Given the description of an element on the screen output the (x, y) to click on. 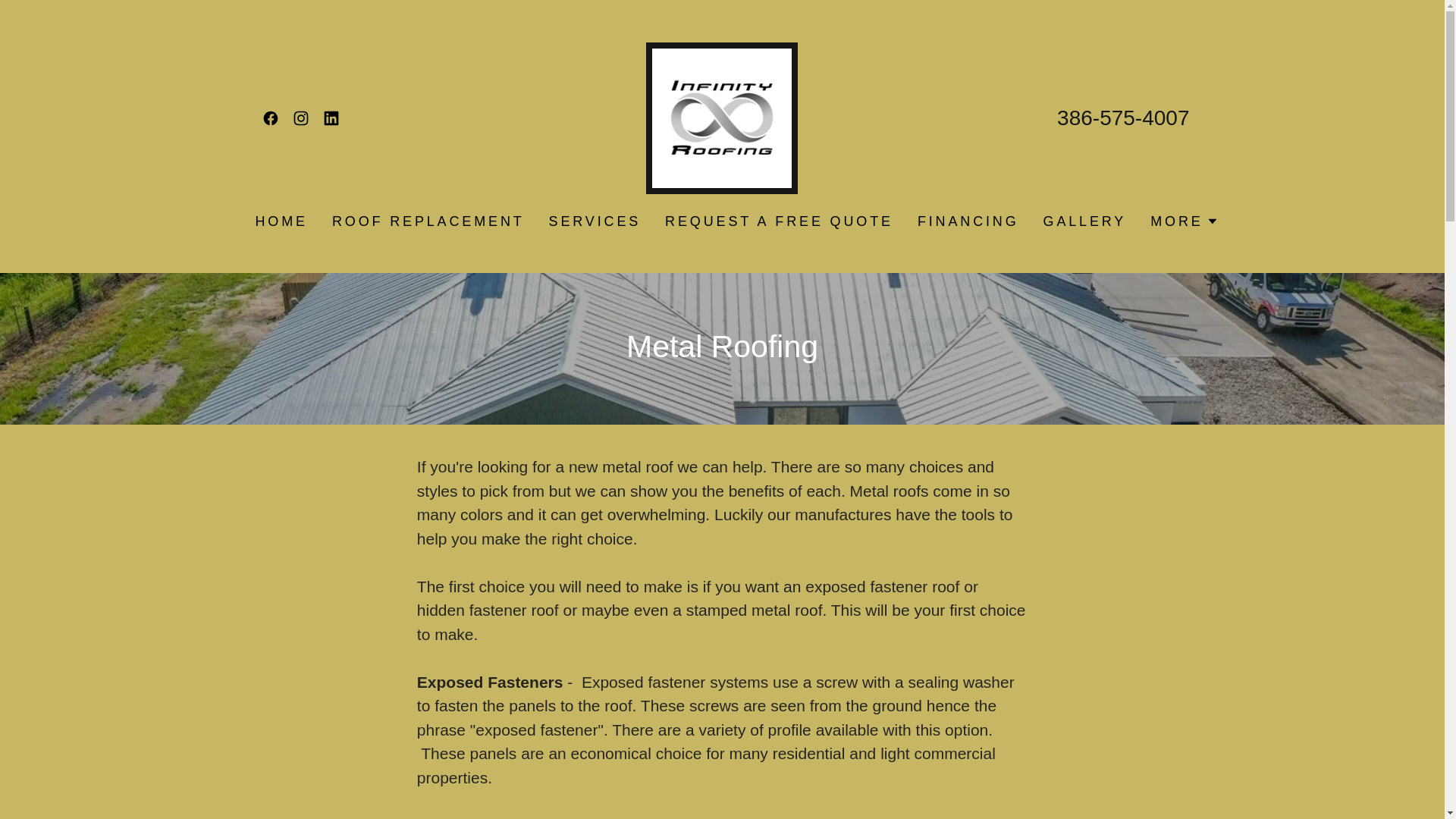
GALLERY (1085, 221)
SERVICES (595, 221)
HOME (280, 221)
386-575-4007 (1123, 117)
MORE (1183, 221)
FINANCING (967, 221)
ROOF REPLACEMENT (428, 221)
REQUEST A FREE QUOTE (779, 221)
